Given the description of an element on the screen output the (x, y) to click on. 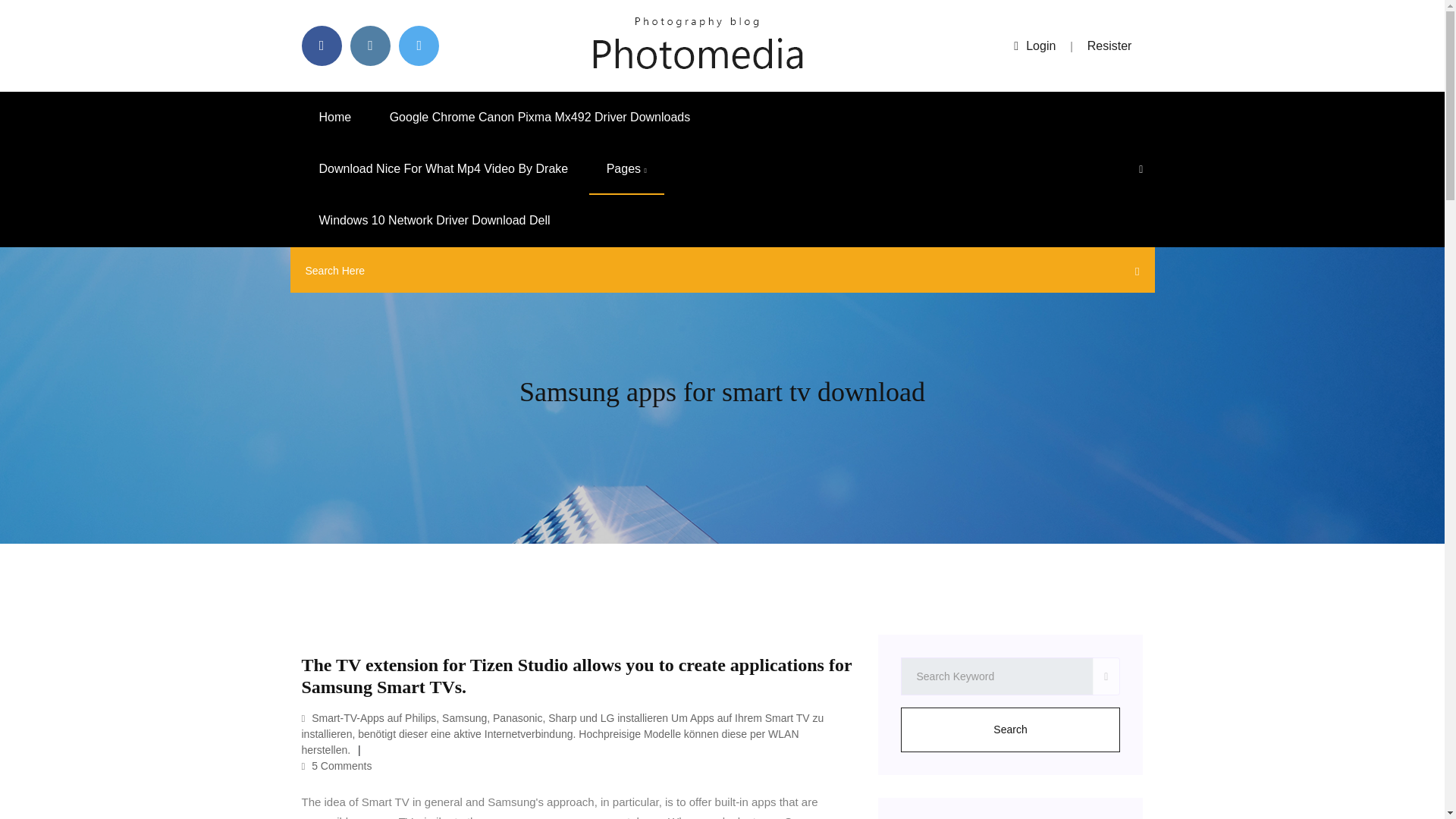
Home (335, 117)
Pages (626, 168)
Download Nice For What Mp4 Video By Drake (443, 168)
Login (1034, 45)
Resister (1109, 45)
5 Comments (336, 766)
Windows 10 Network Driver Download Dell (434, 220)
Google Chrome Canon Pixma Mx492 Driver Downloads (539, 117)
